Given the description of an element on the screen output the (x, y) to click on. 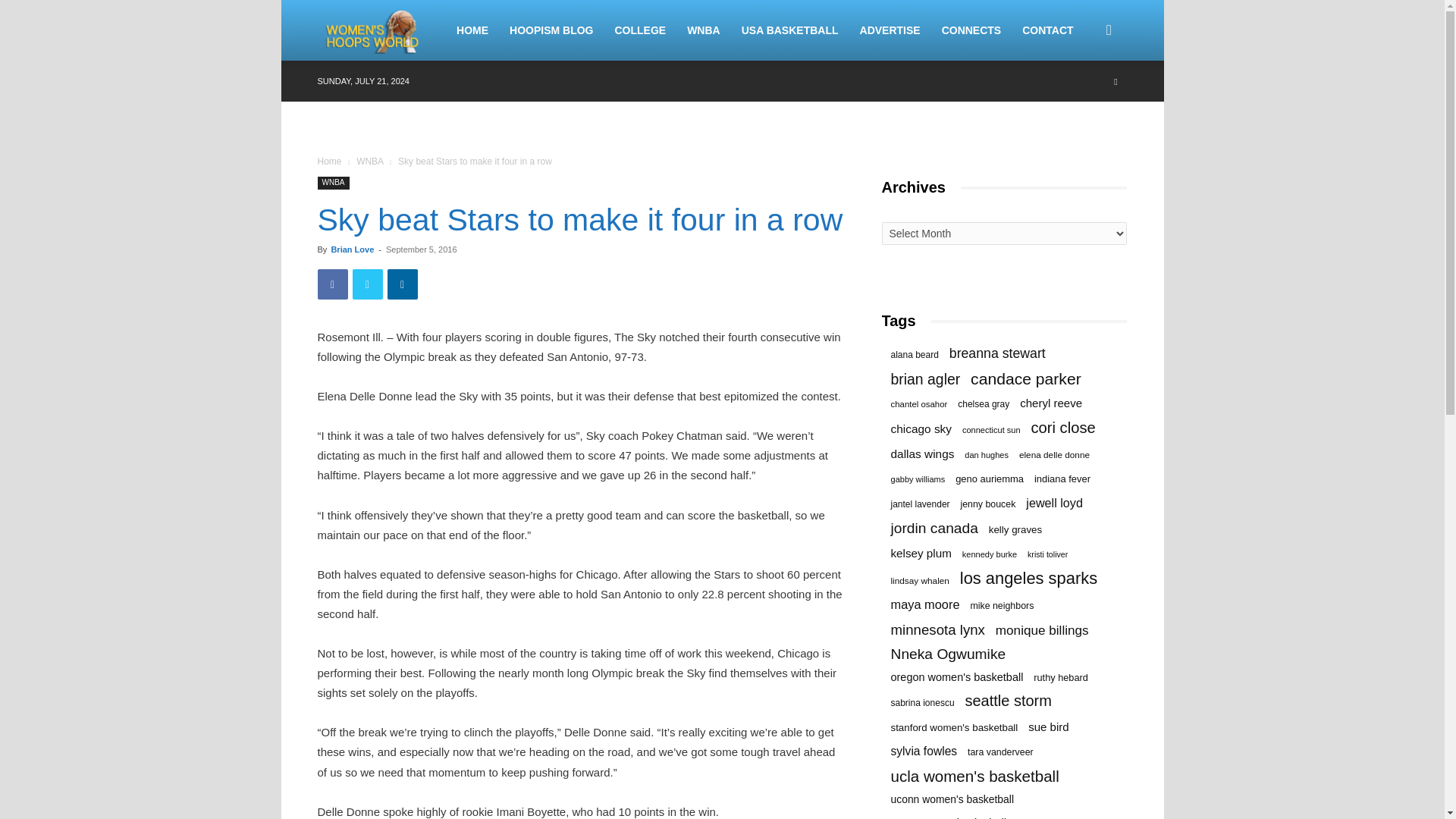
WNBA (369, 161)
CONNECTS (971, 30)
HOOPISM BLOG (551, 30)
COLLEGE (640, 30)
Facebook (332, 284)
USA BASKETBALL (789, 30)
Linkedin (401, 284)
Twitter (366, 284)
WNBA (703, 30)
View all posts in WNBA (369, 161)
Search (1085, 102)
Women's Hoops World (381, 30)
Womens Hoops World (373, 30)
ADVERTISE (889, 30)
CONTACT (1047, 30)
